Given the description of an element on the screen output the (x, y) to click on. 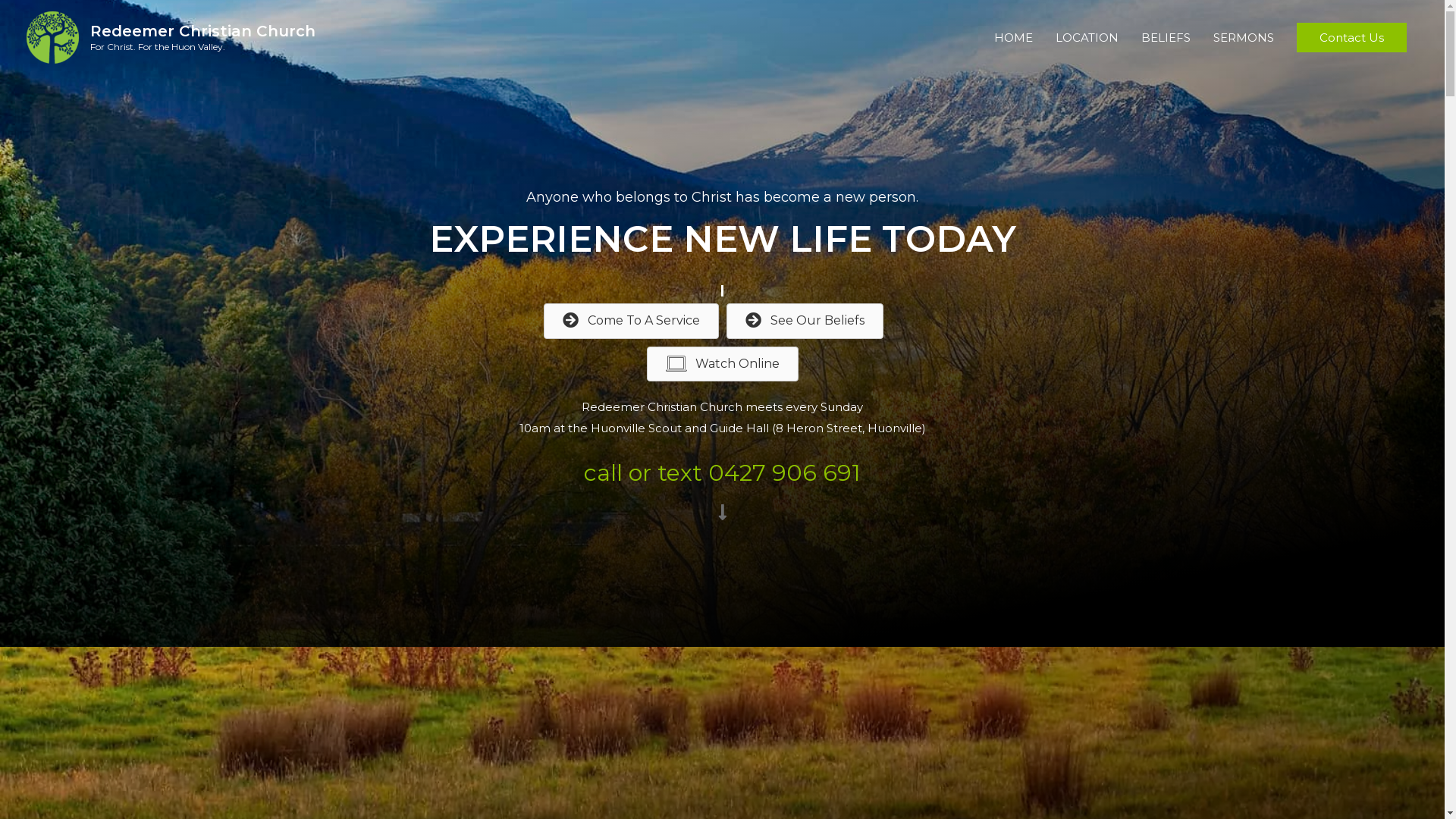
HOME Element type: text (1013, 37)
Contact Us Element type: text (1351, 37)
BELIEFS Element type: text (1165, 37)
Come To A Service Element type: text (630, 320)
SERMONS Element type: text (1243, 37)
Redeemer Christian Church Element type: text (202, 30)
Watch Online Element type: text (721, 364)
See Our Beliefs Element type: text (804, 320)
LOCATION Element type: text (1086, 37)
